Given the description of an element on the screen output the (x, y) to click on. 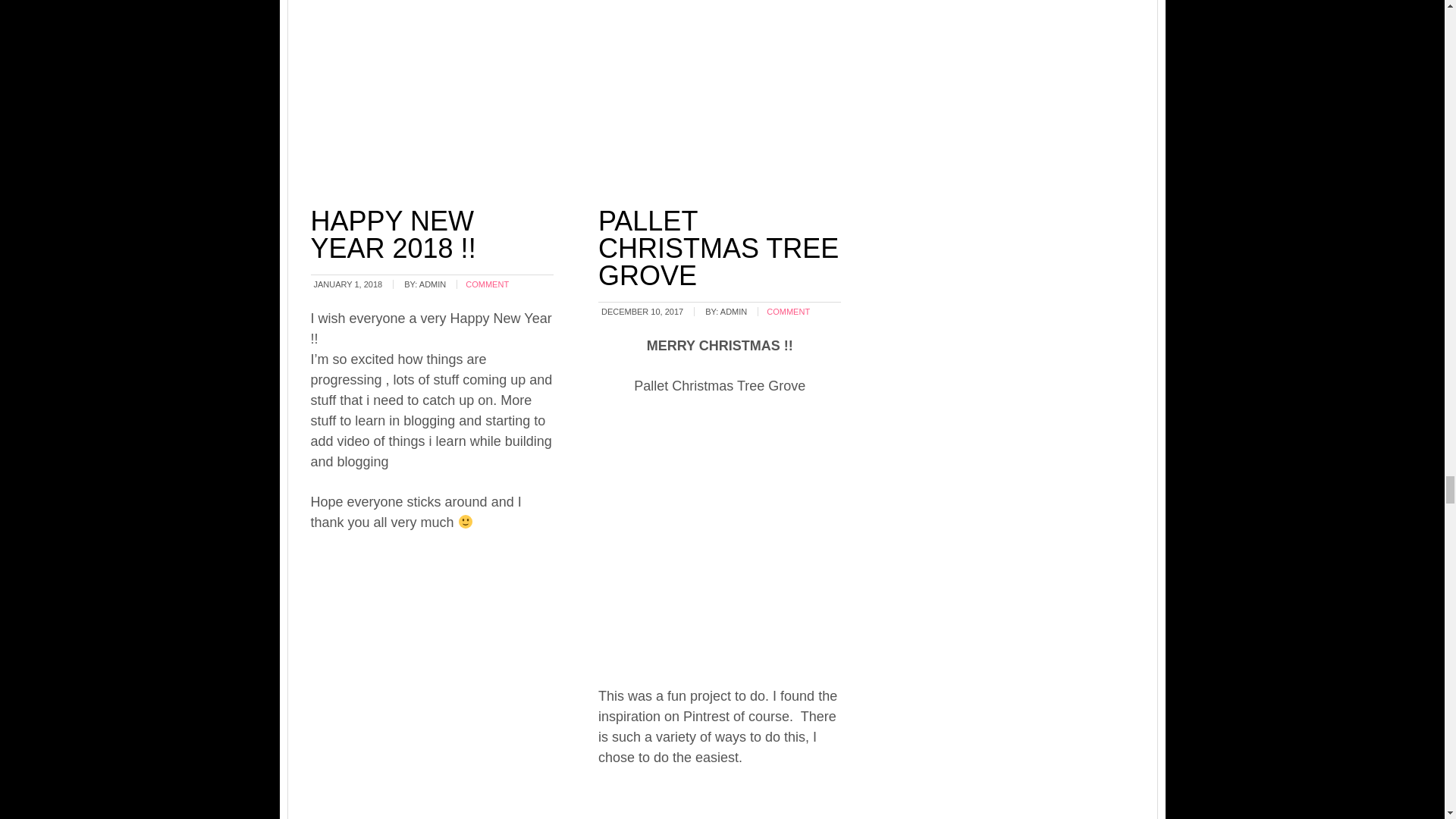
COMMENT (788, 311)
COMMENT (486, 284)
HAPPY NEW YEAR 2018 !! (393, 234)
PALLET CHRISTMAS TREE GROVE (718, 248)
